Given the description of an element on the screen output the (x, y) to click on. 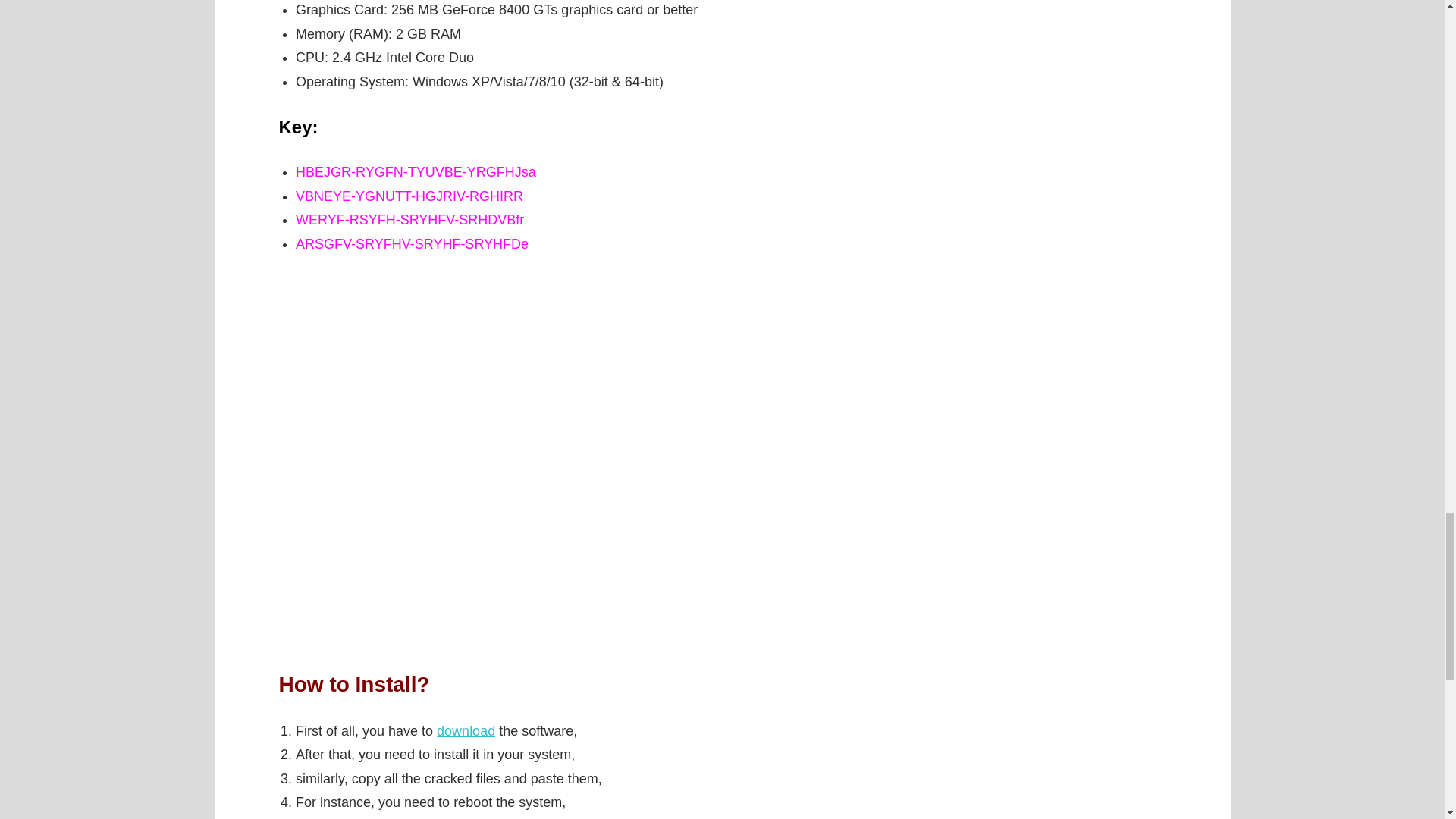
download (465, 730)
